Given the description of an element on the screen output the (x, y) to click on. 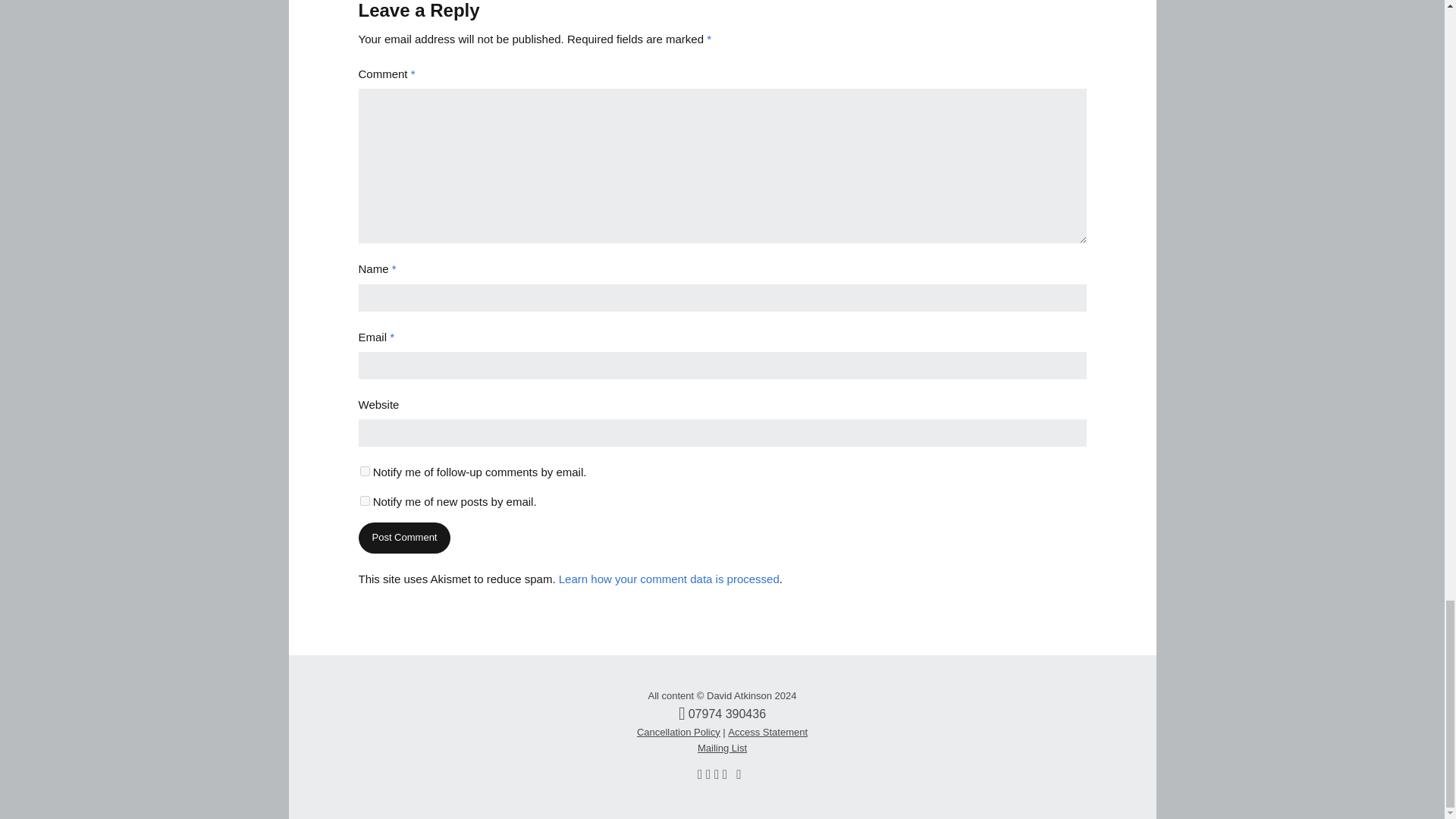
Post Comment (403, 537)
Post Comment (403, 537)
subscribe (364, 501)
subscribe (364, 470)
